Given the description of an element on the screen output the (x, y) to click on. 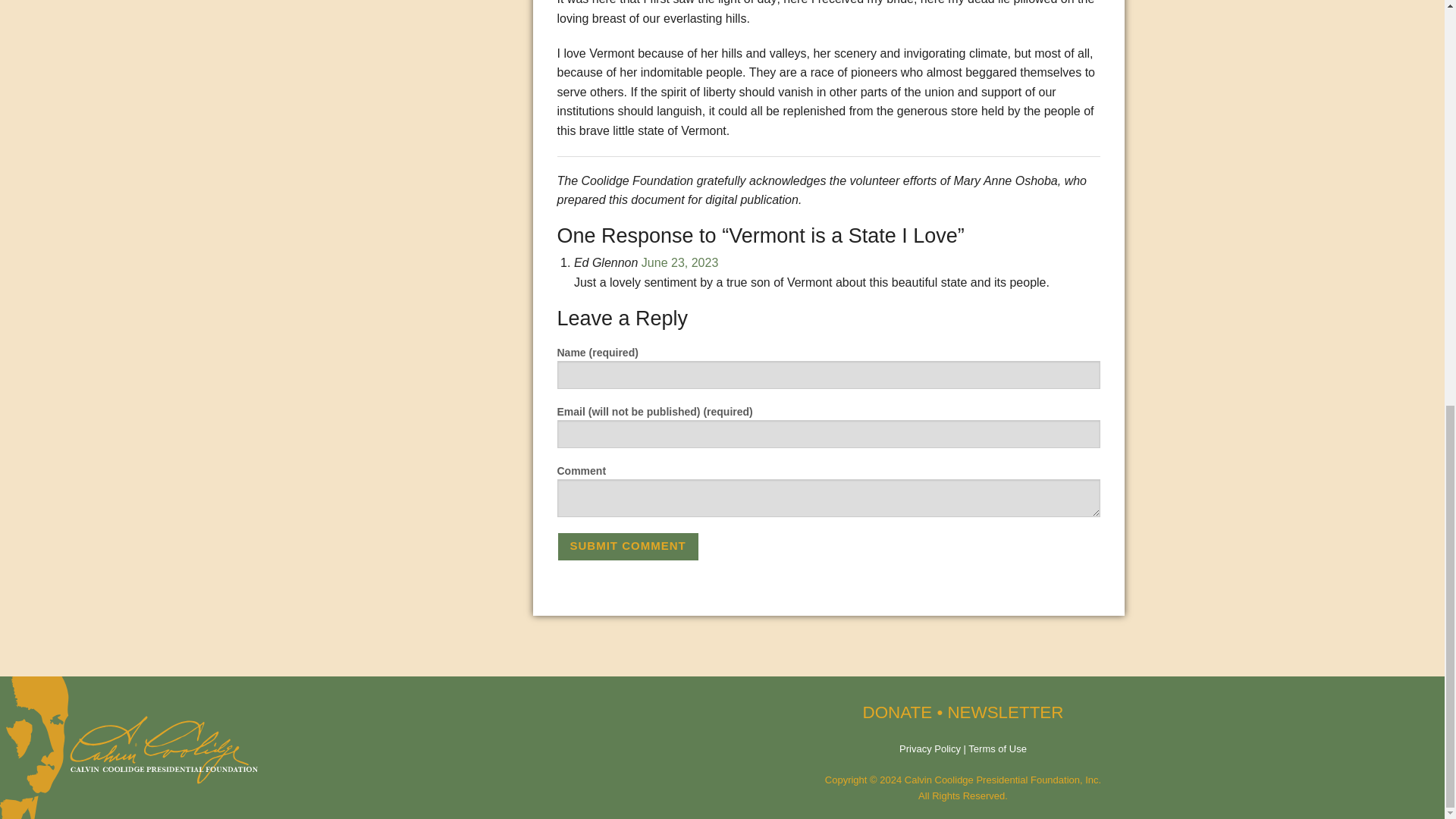
June 23, 2023 (679, 262)
Submit Comment (627, 546)
Submit Comment (627, 546)
Privacy Policy (929, 748)
NEWSLETTER (1004, 711)
Terms of Use (997, 748)
